Given the description of an element on the screen output the (x, y) to click on. 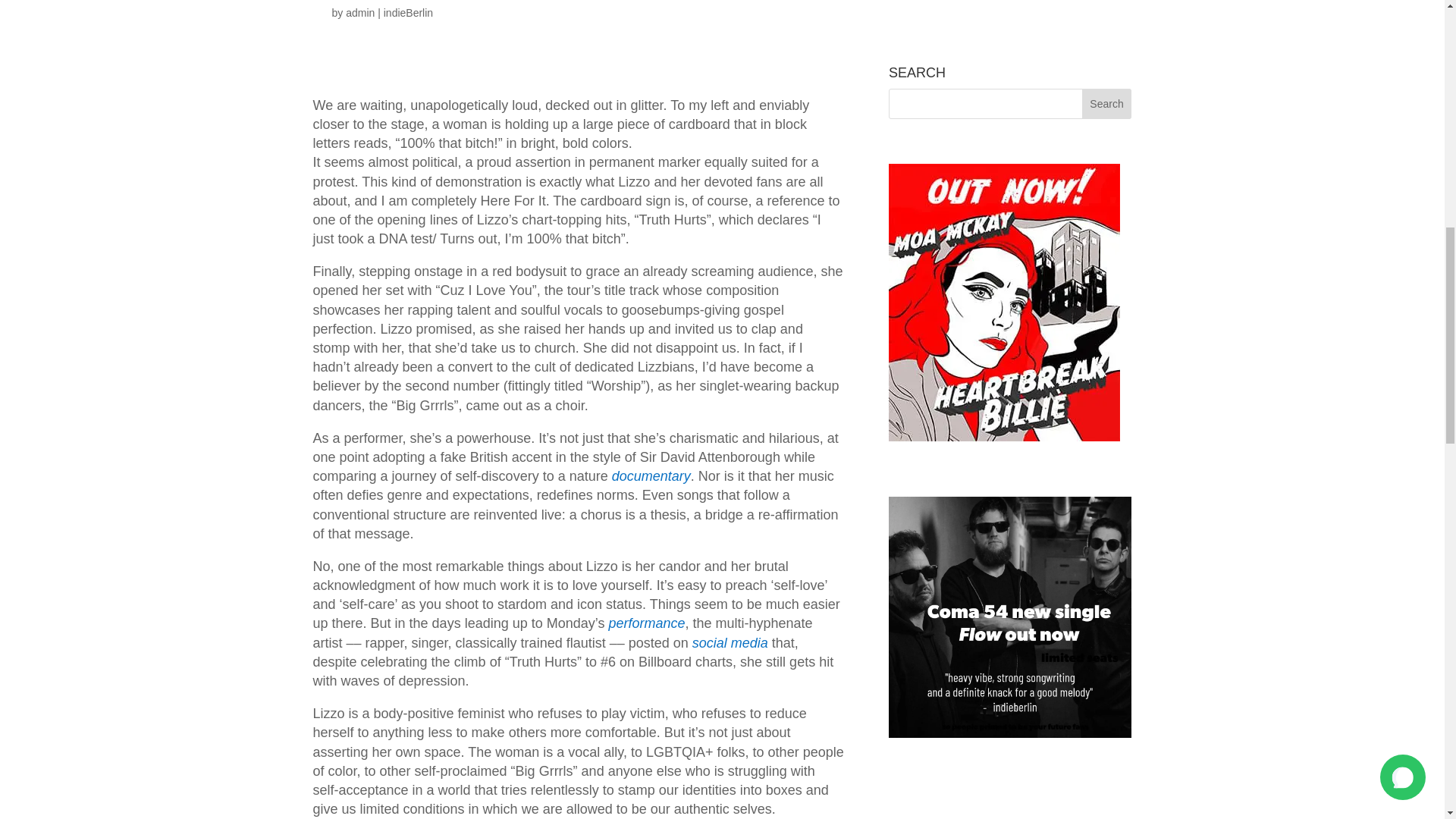
Posts by admin (360, 12)
Search (1106, 103)
